Given the description of an element on the screen output the (x, y) to click on. 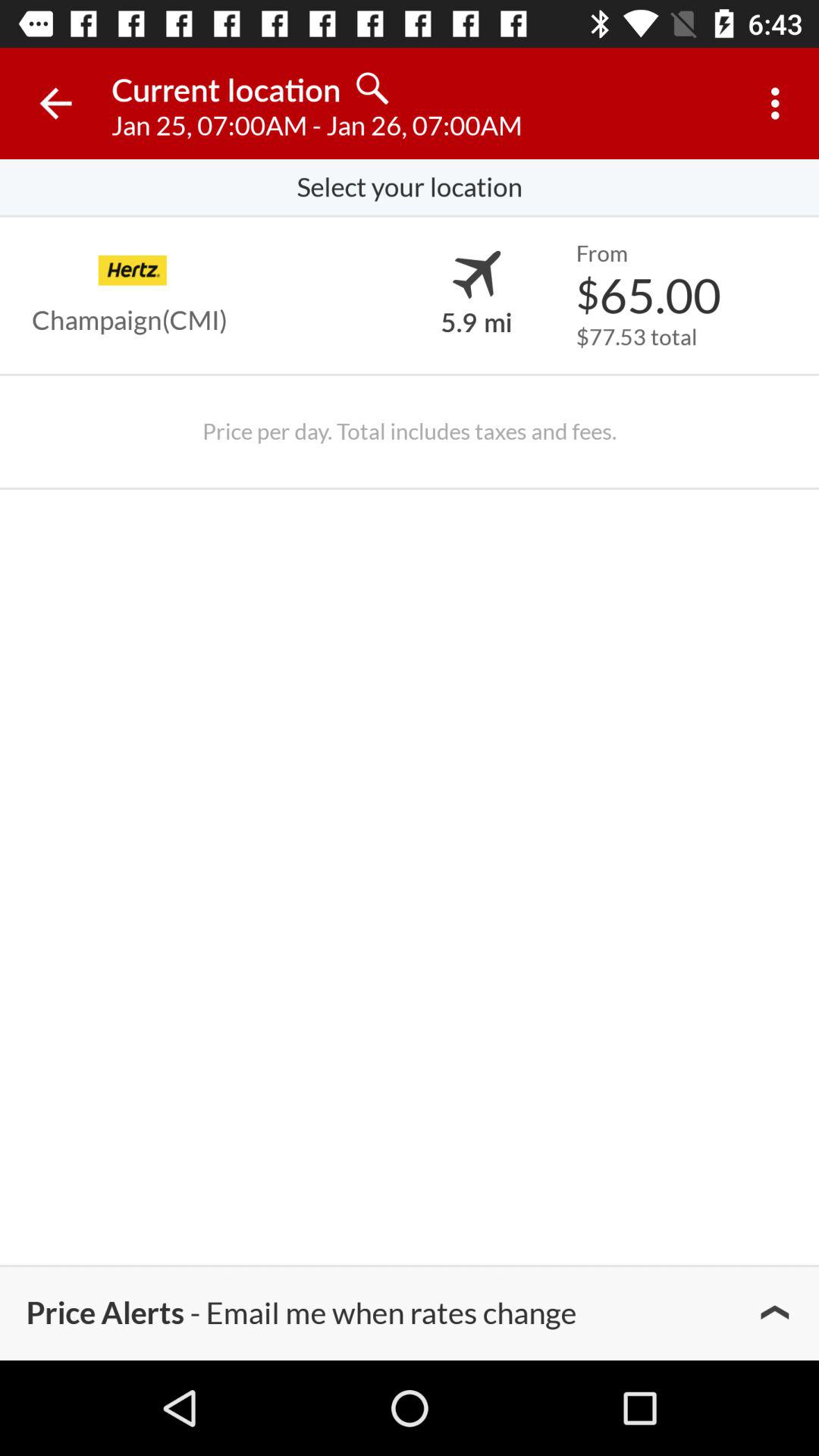
select the icon below from item (648, 294)
